Given the description of an element on the screen output the (x, y) to click on. 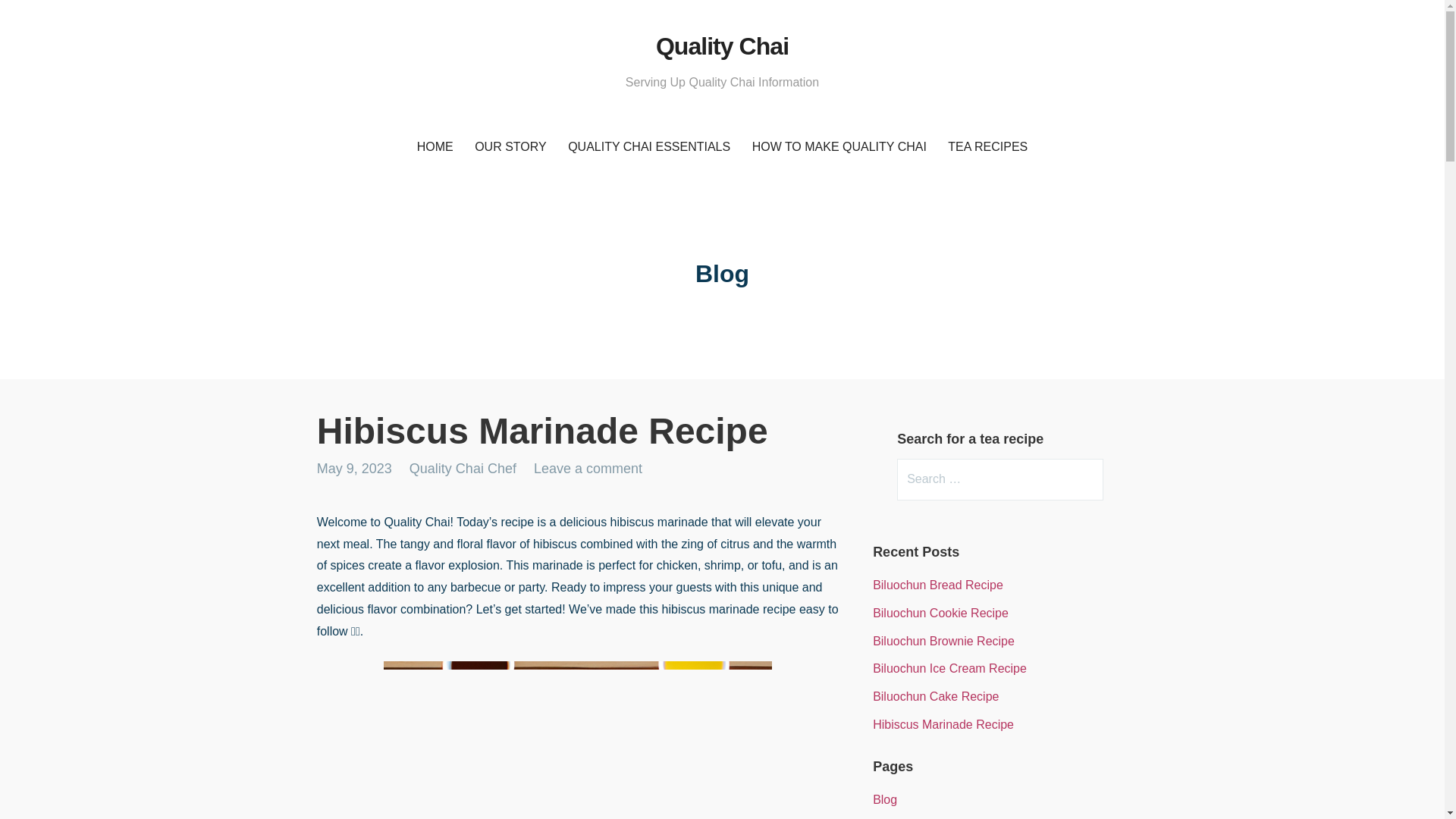
Biluochun Brownie Recipe (943, 640)
OUR STORY (510, 146)
Biluochun Ice Cream Recipe (949, 667)
TEA RECIPES (987, 146)
Search (42, 18)
Leave a comment (588, 468)
Posts by Quality Chai Chef (462, 468)
Biluochun Cake Recipe (935, 696)
QUALITY CHAI ESSENTIALS (649, 146)
